Given the description of an element on the screen output the (x, y) to click on. 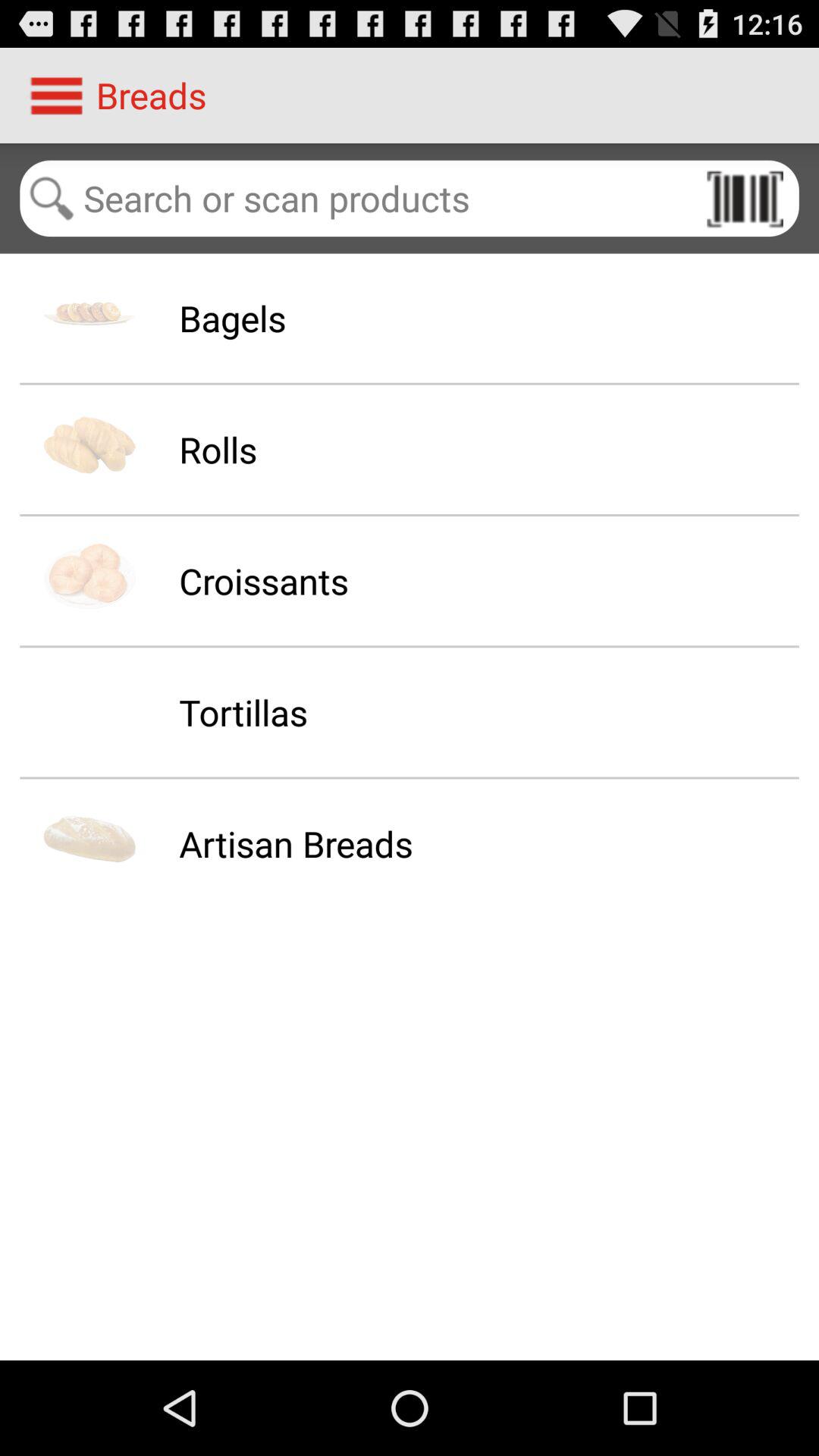
turn on icon above the croissants (218, 449)
